Given the description of an element on the screen output the (x, y) to click on. 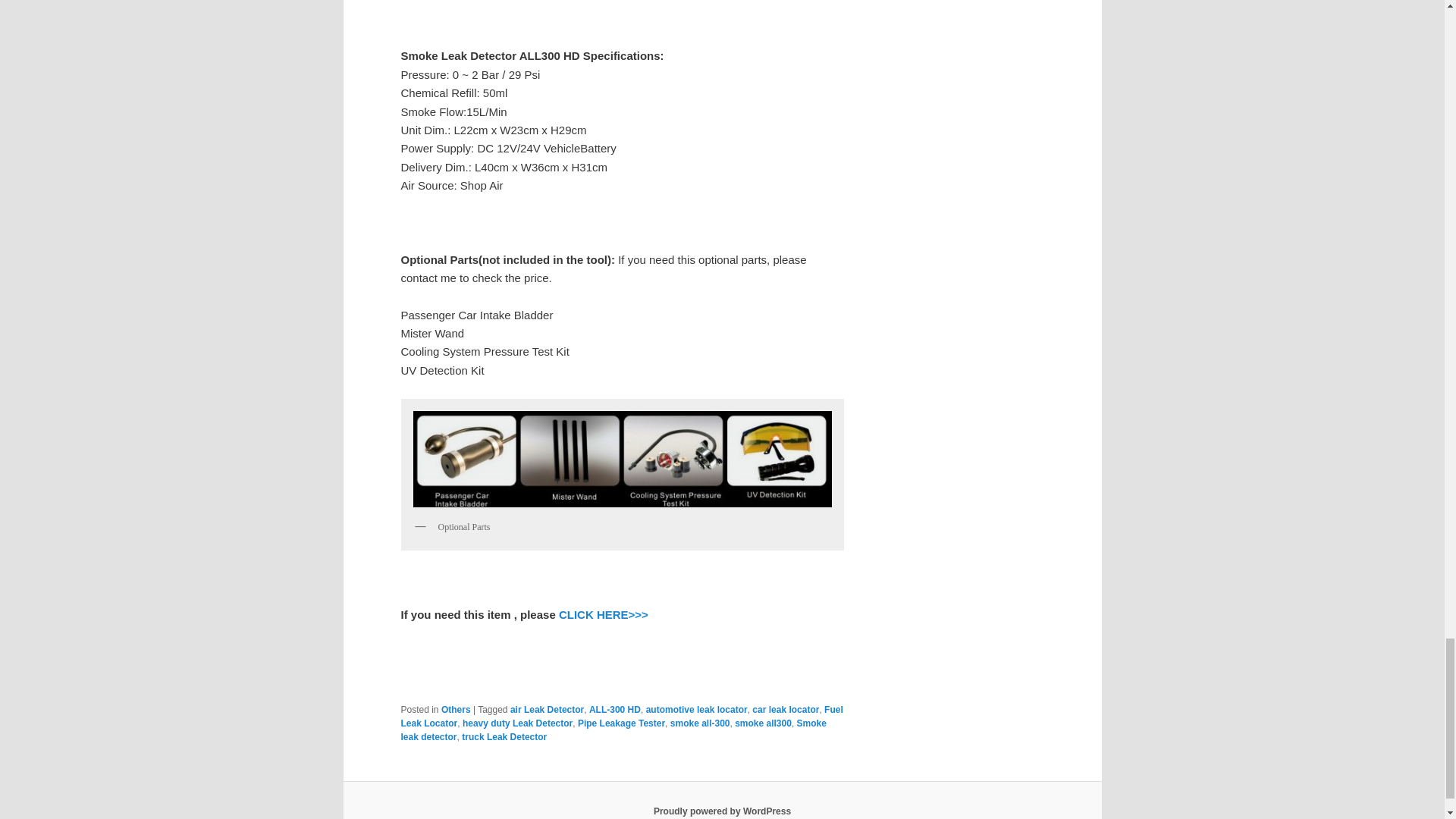
truck Leak Detector (504, 737)
automotive leak locator (697, 709)
heavy duty Leak Detector (517, 723)
Smoke leak detector (612, 730)
smoke all300 (763, 723)
car leak locator (785, 709)
Semantic Personal Publishing Platform (721, 810)
air Leak Detector (547, 709)
ALL-300 HD (614, 709)
Fuel Leak Locator (621, 716)
Pipe Leakage Tester (621, 723)
smoke all-300 (699, 723)
Others (455, 709)
